Given the description of an element on the screen output the (x, y) to click on. 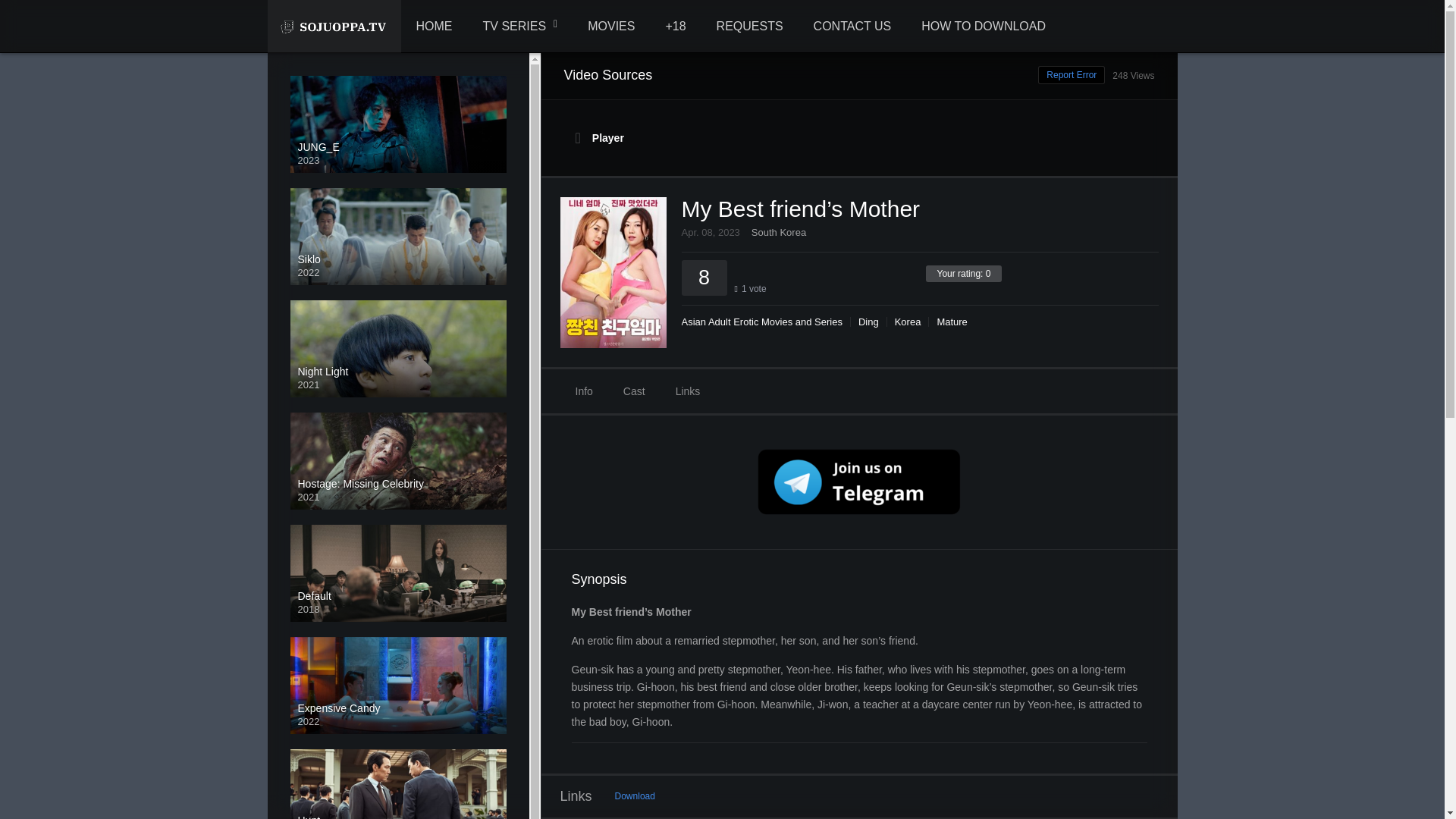
HOME (434, 26)
TV SERIES (520, 26)
REQUESTS (749, 26)
Player (859, 137)
CONTACT US (852, 26)
MOVIES (610, 26)
HOW TO DOWNLOAD (983, 26)
